Given the description of an element on the screen output the (x, y) to click on. 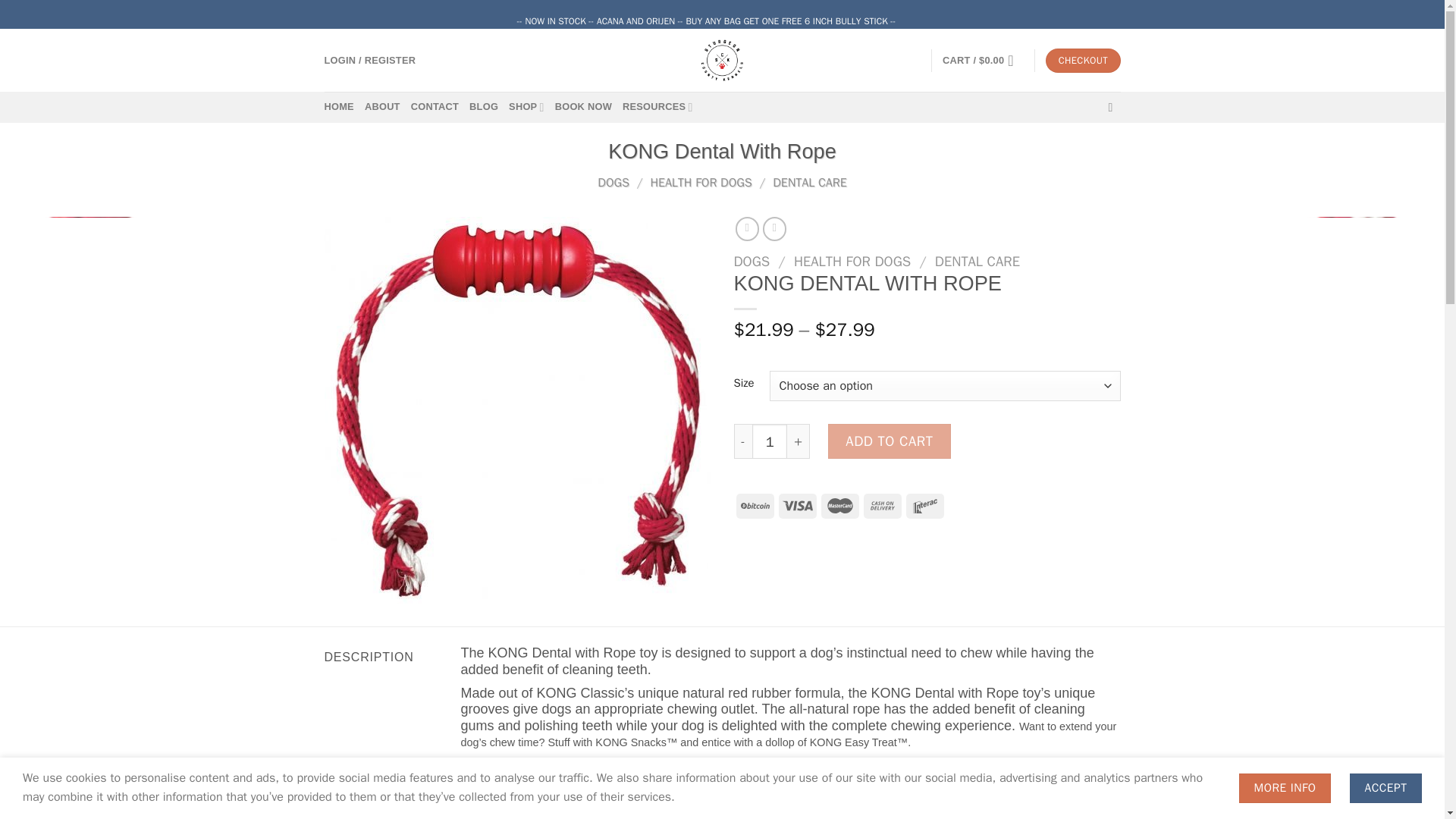
SHOP (526, 106)
ABOUT (382, 106)
CONTACT (434, 106)
BOOK NOW (582, 106)
Cart (982, 60)
BLOG (482, 106)
RESOURCES (658, 106)
HOME (338, 106)
1 (769, 441)
CHECKOUT (1082, 60)
